Given the description of an element on the screen output the (x, y) to click on. 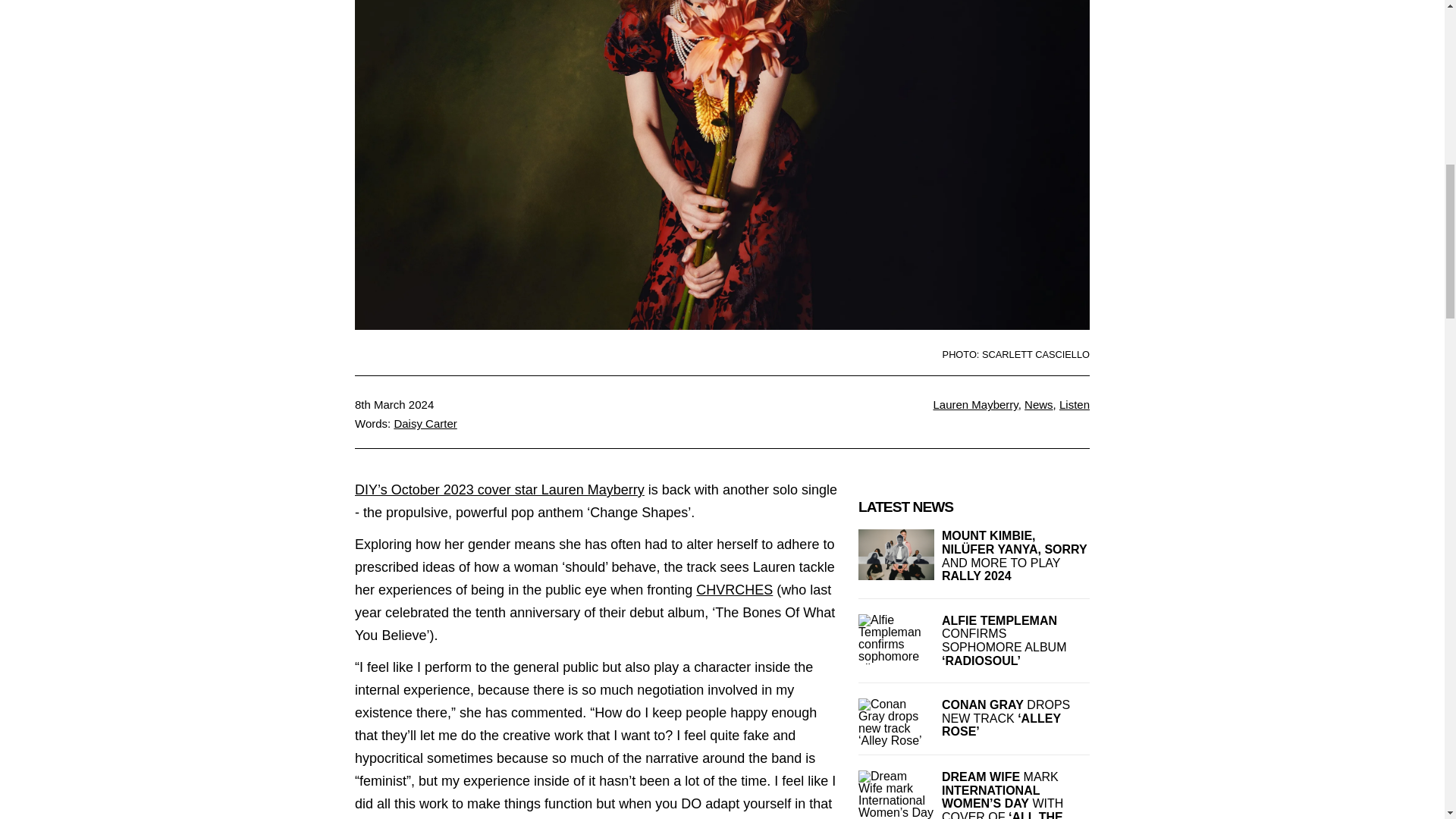
Daisy Carter (425, 422)
Listen (1074, 404)
News (1038, 404)
CHVRCHES (734, 589)
Lauren Mayberry (975, 404)
